Given the description of an element on the screen output the (x, y) to click on. 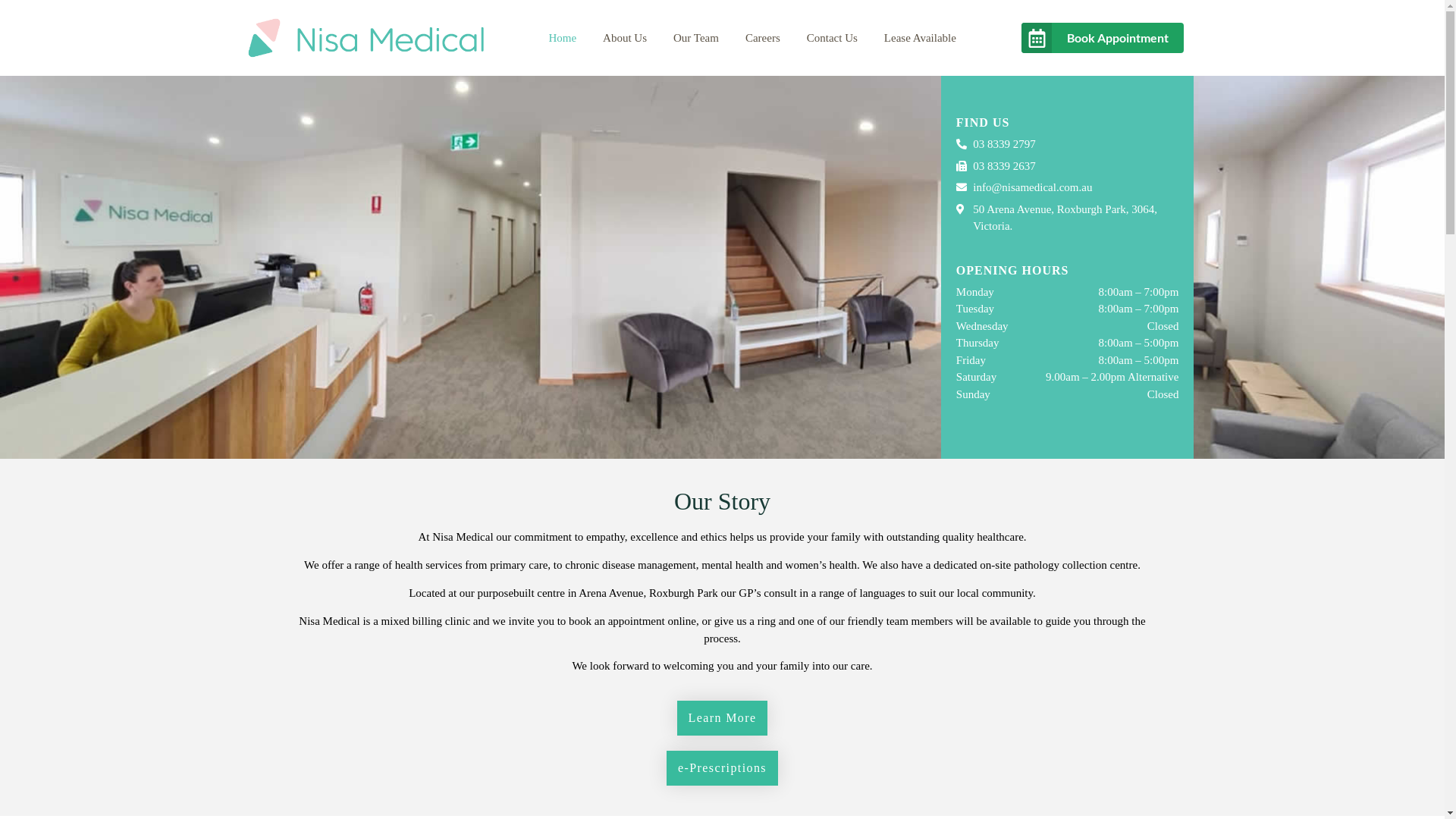
About Us Element type: text (624, 37)
03 8339 2637 Element type: text (1067, 166)
e-Prescriptions Element type: text (722, 767)
Lease Available Element type: text (919, 37)
Learn More Element type: text (722, 717)
Contact Us Element type: text (832, 37)
Home Element type: text (561, 37)
Book Appointment Element type: text (1102, 37)
Careers Element type: text (762, 37)
Our Team Element type: text (696, 37)
03 8339 2797 Element type: text (1067, 144)
